Given the description of an element on the screen output the (x, y) to click on. 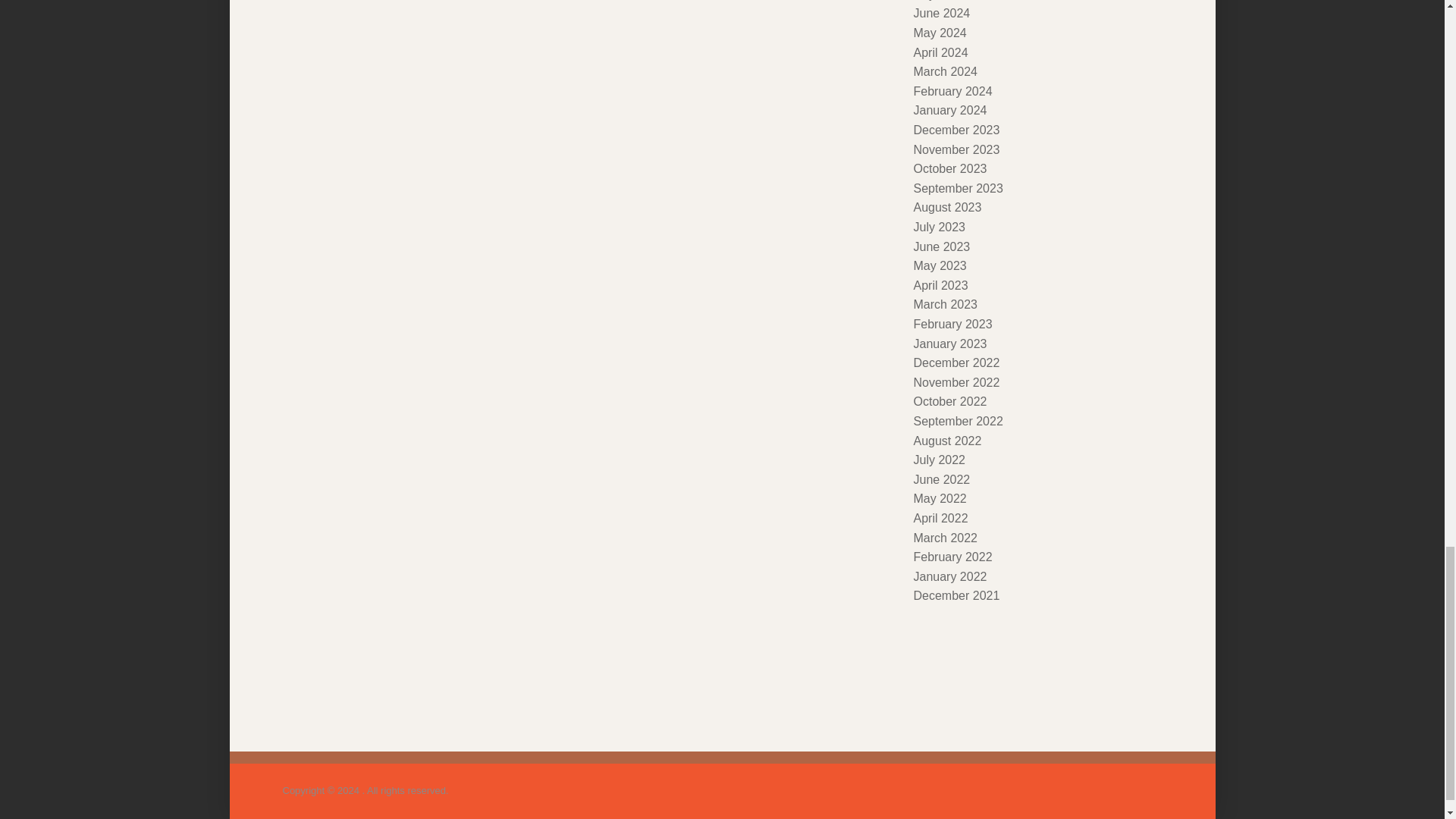
December 2023 (955, 129)
September 2023 (957, 187)
June 2024 (940, 12)
July 2024 (938, 0)
October 2023 (949, 168)
May 2024 (939, 32)
March 2024 (944, 71)
January 2024 (949, 110)
April 2024 (940, 51)
November 2023 (955, 149)
February 2024 (951, 91)
